Given the description of an element on the screen output the (x, y) to click on. 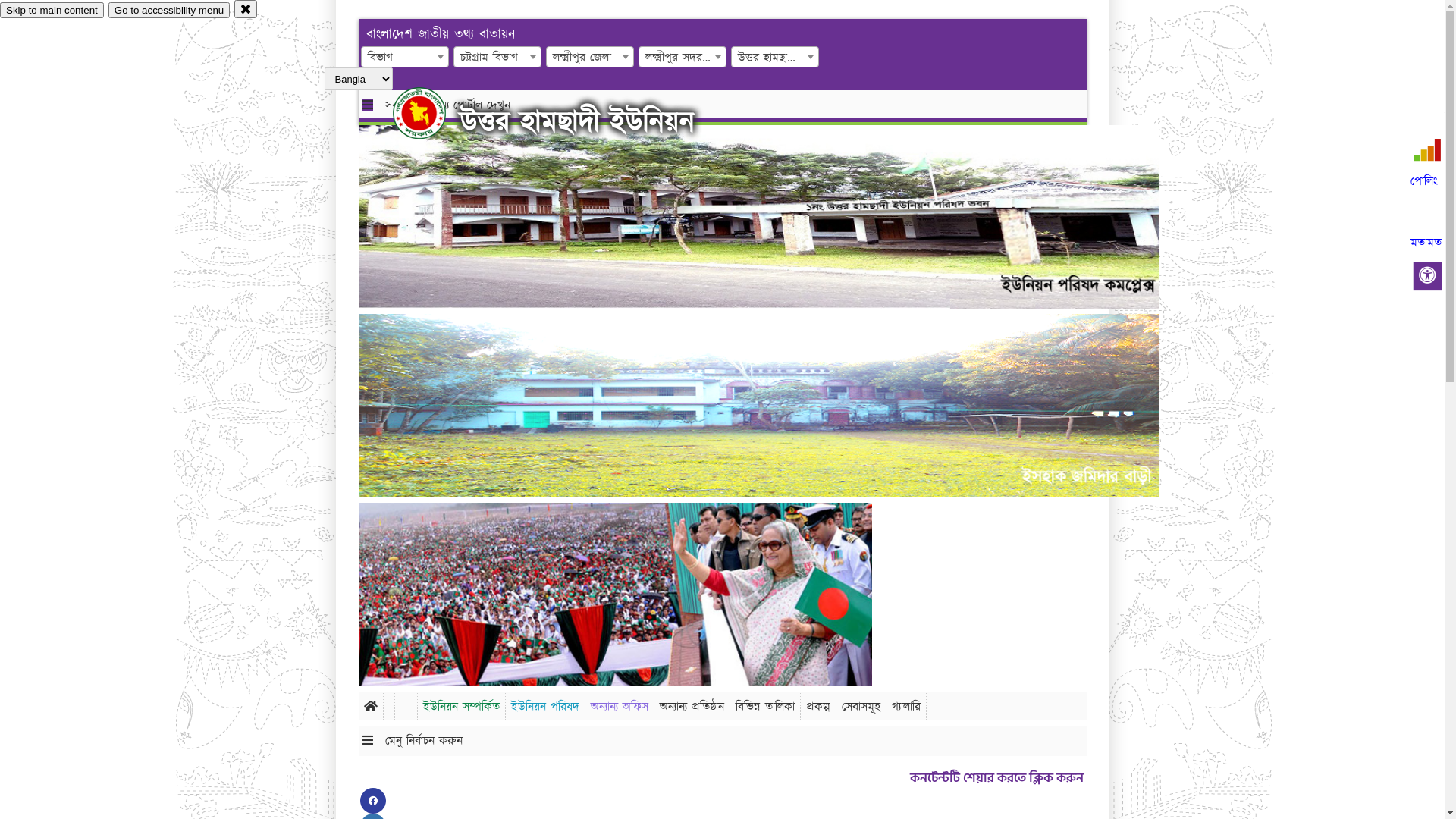
close Element type: hover (245, 9)
Skip to main content Element type: text (51, 10)
Go to accessibility menu Element type: text (168, 10)

                
             Element type: hover (431, 112)
